Given the description of an element on the screen output the (x, y) to click on. 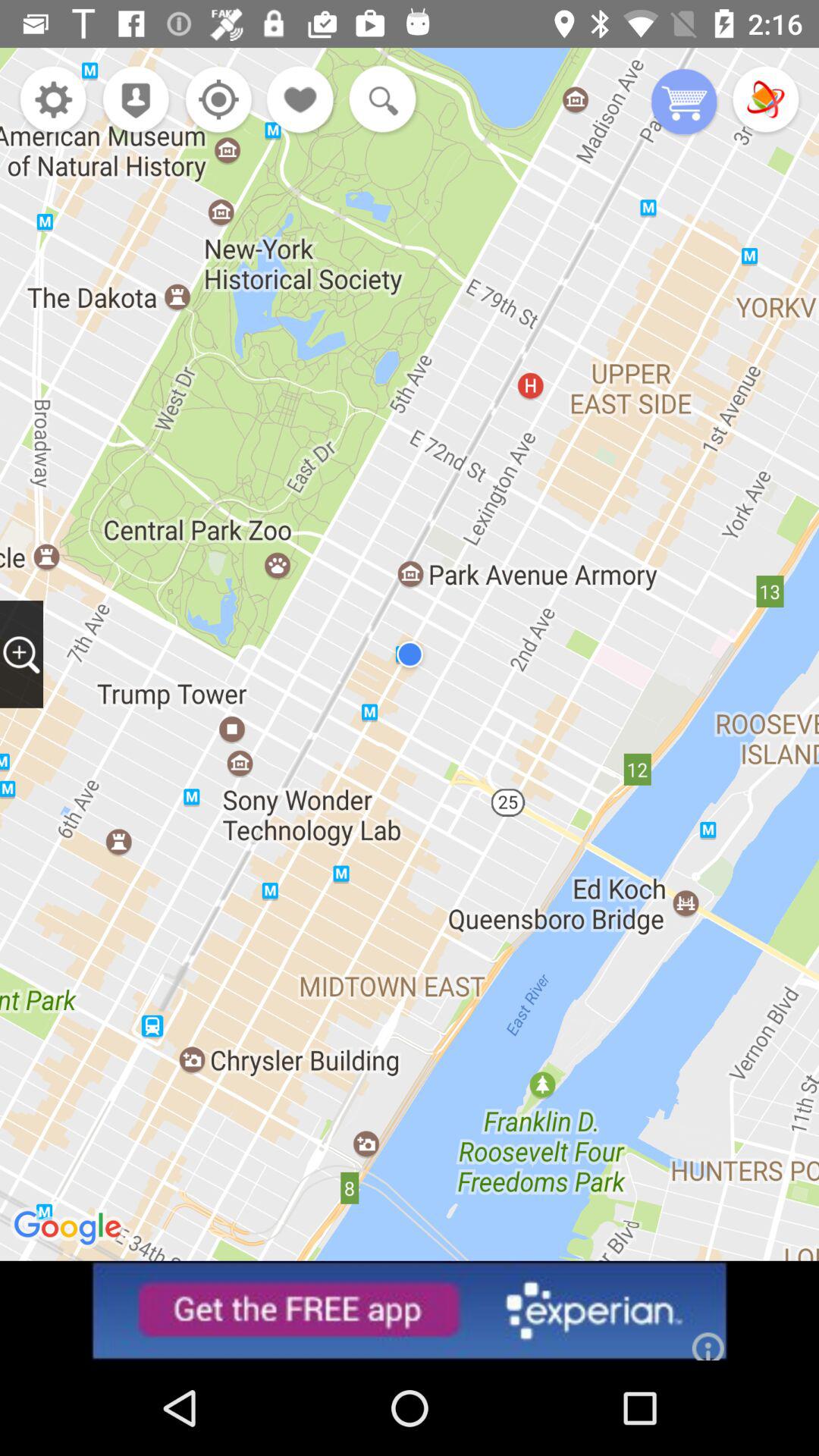
location (214, 101)
